Given the description of an element on the screen output the (x, y) to click on. 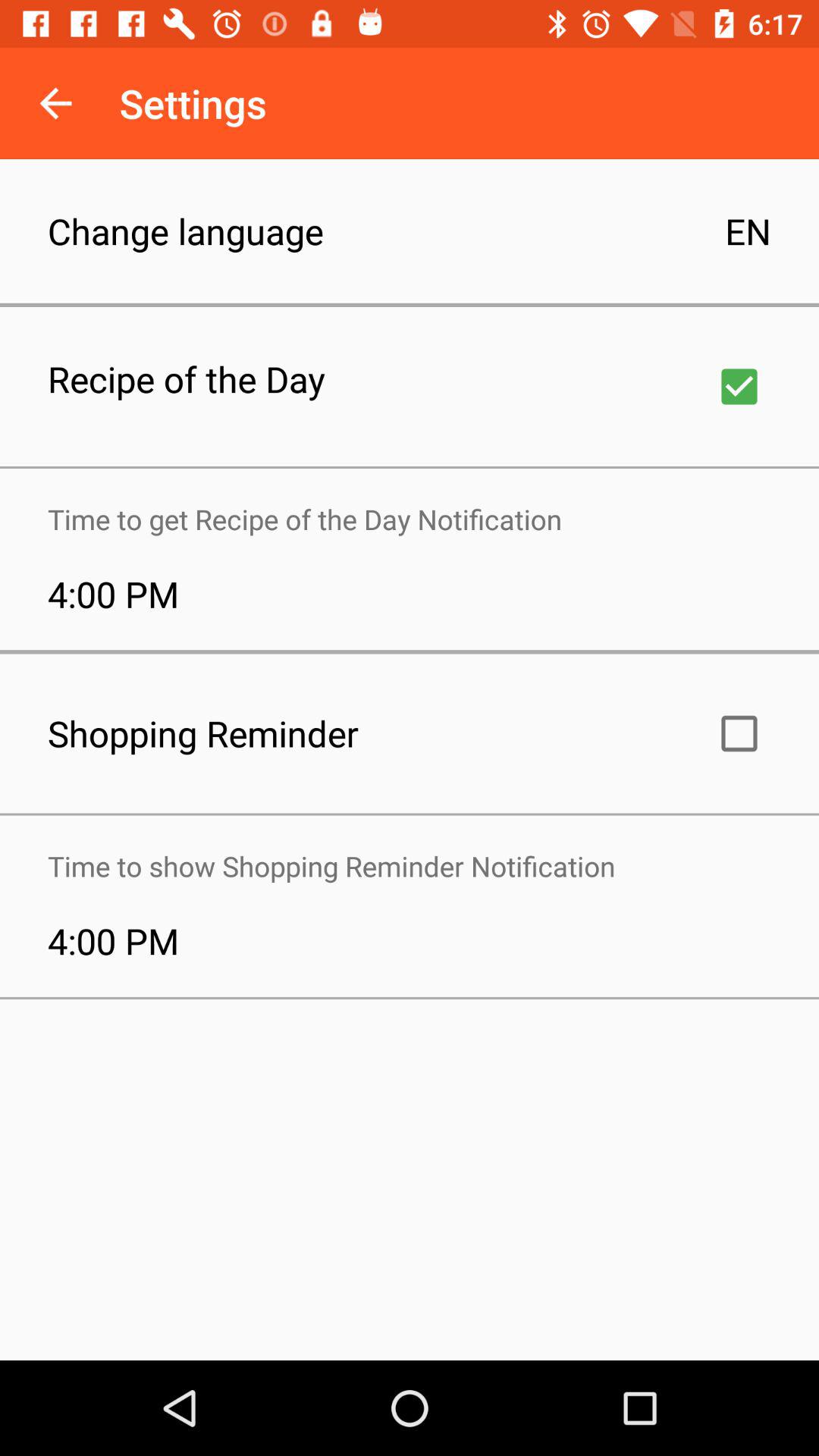
toggle setting (739, 386)
